Given the description of an element on the screen output the (x, y) to click on. 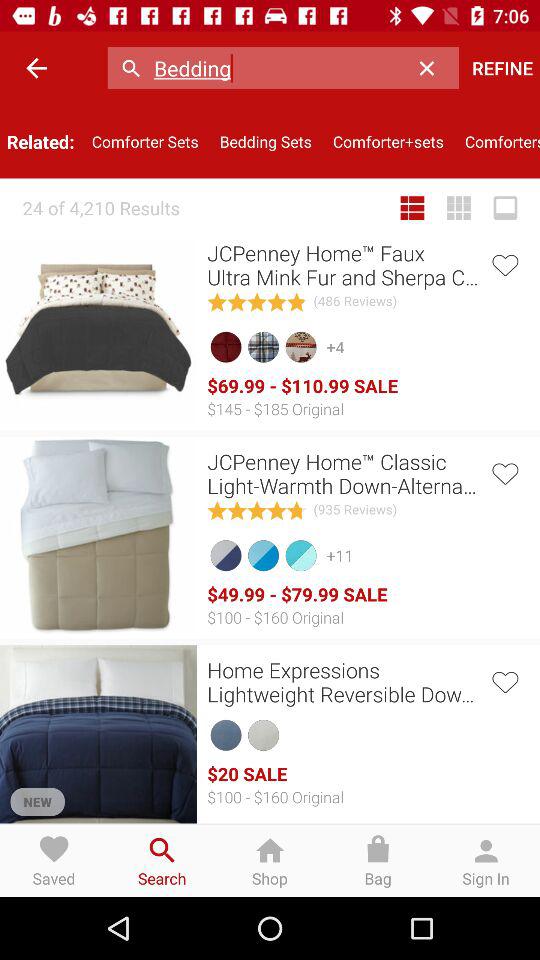
tap the icon above comforter+sets icon (432, 67)
